Given the description of an element on the screen output the (x, y) to click on. 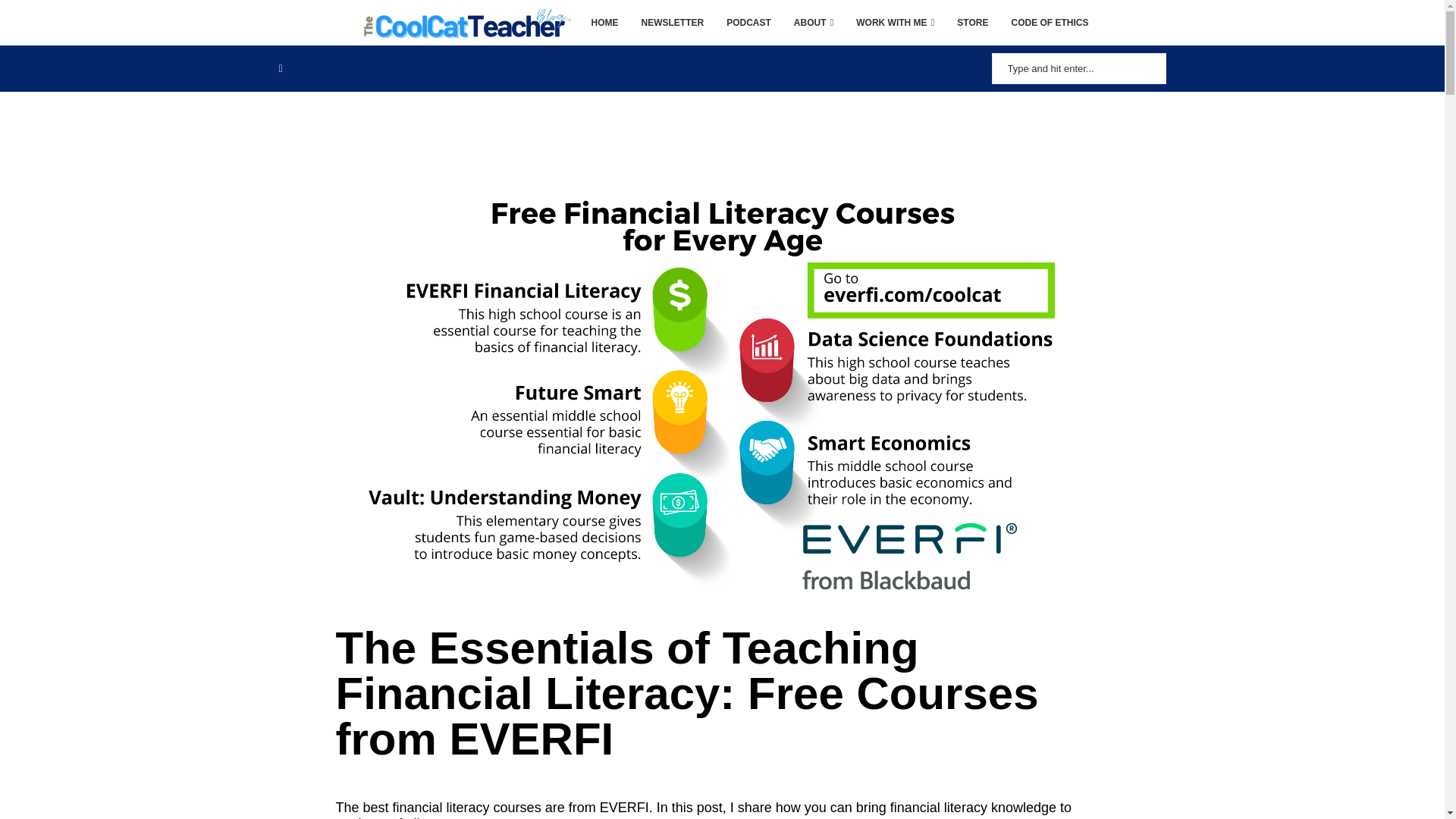
PODCAST (748, 22)
WORK WITH ME (895, 22)
ABOUT (812, 22)
CODE OF ETHICS (1048, 22)
NEWSLETTER (673, 22)
